Given the description of an element on the screen output the (x, y) to click on. 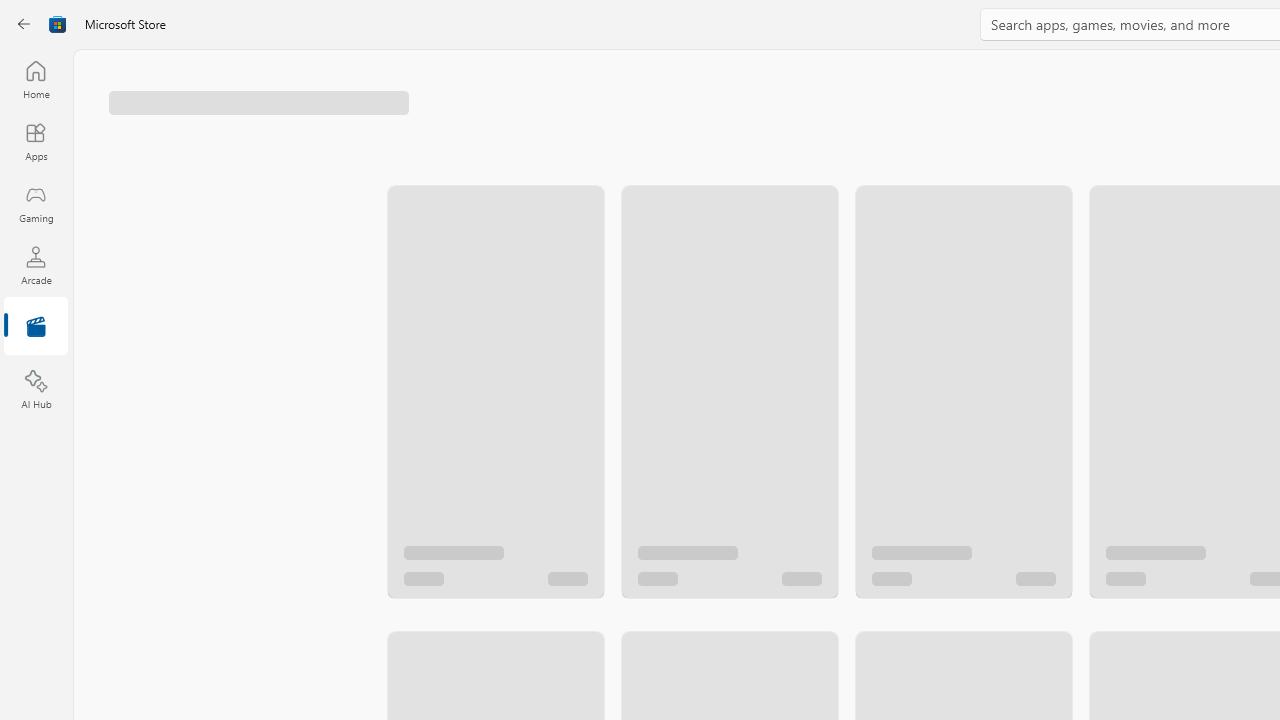
Jurassic World Ultimate Collection (1-6). Starts at $56.99   (962, 372)
Back (24, 24)
